Given the description of an element on the screen output the (x, y) to click on. 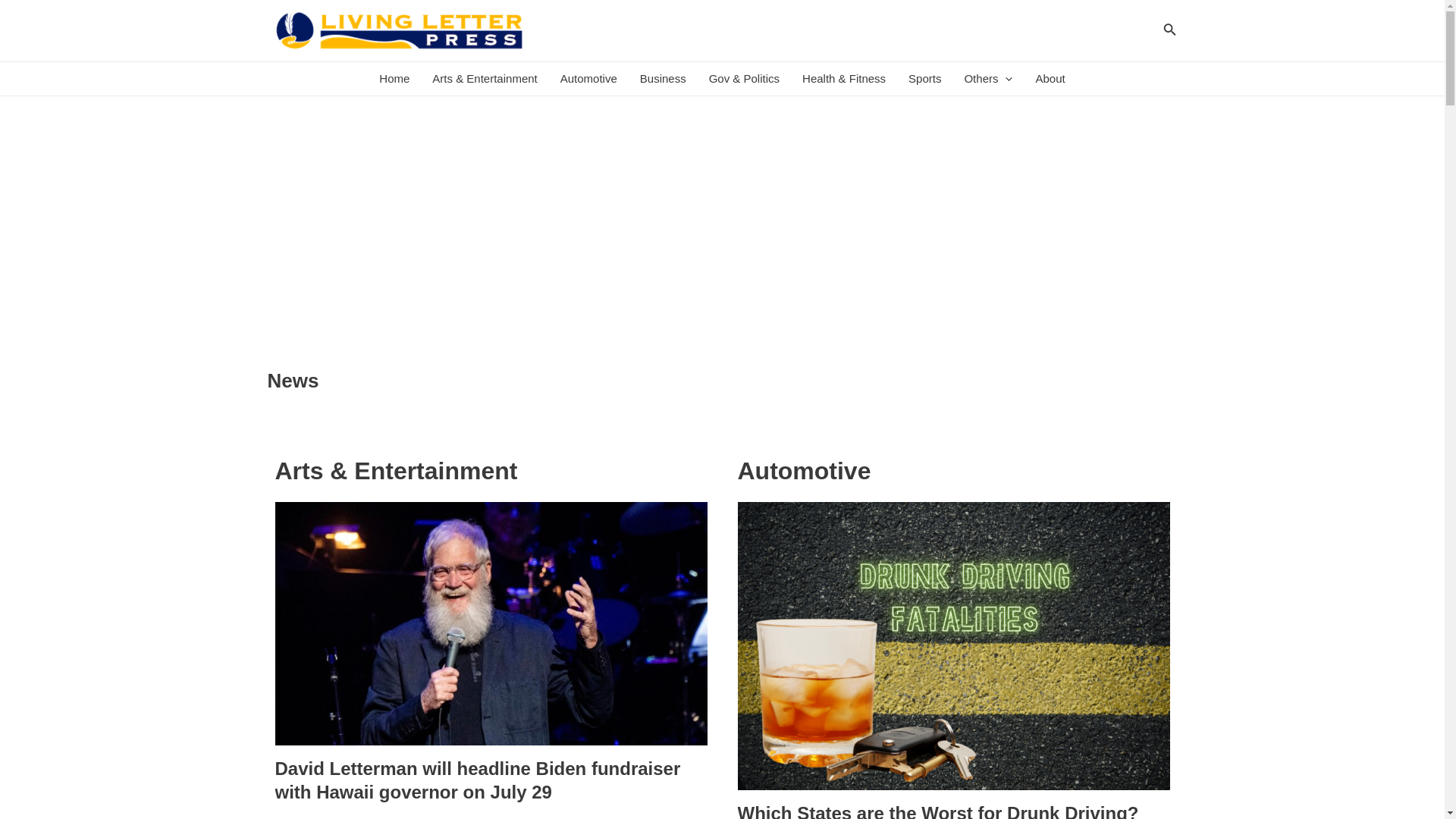
Automotive (588, 78)
About (1049, 78)
Business (662, 78)
Sports (924, 78)
Others (987, 78)
Home (394, 78)
